Given the description of an element on the screen output the (x, y) to click on. 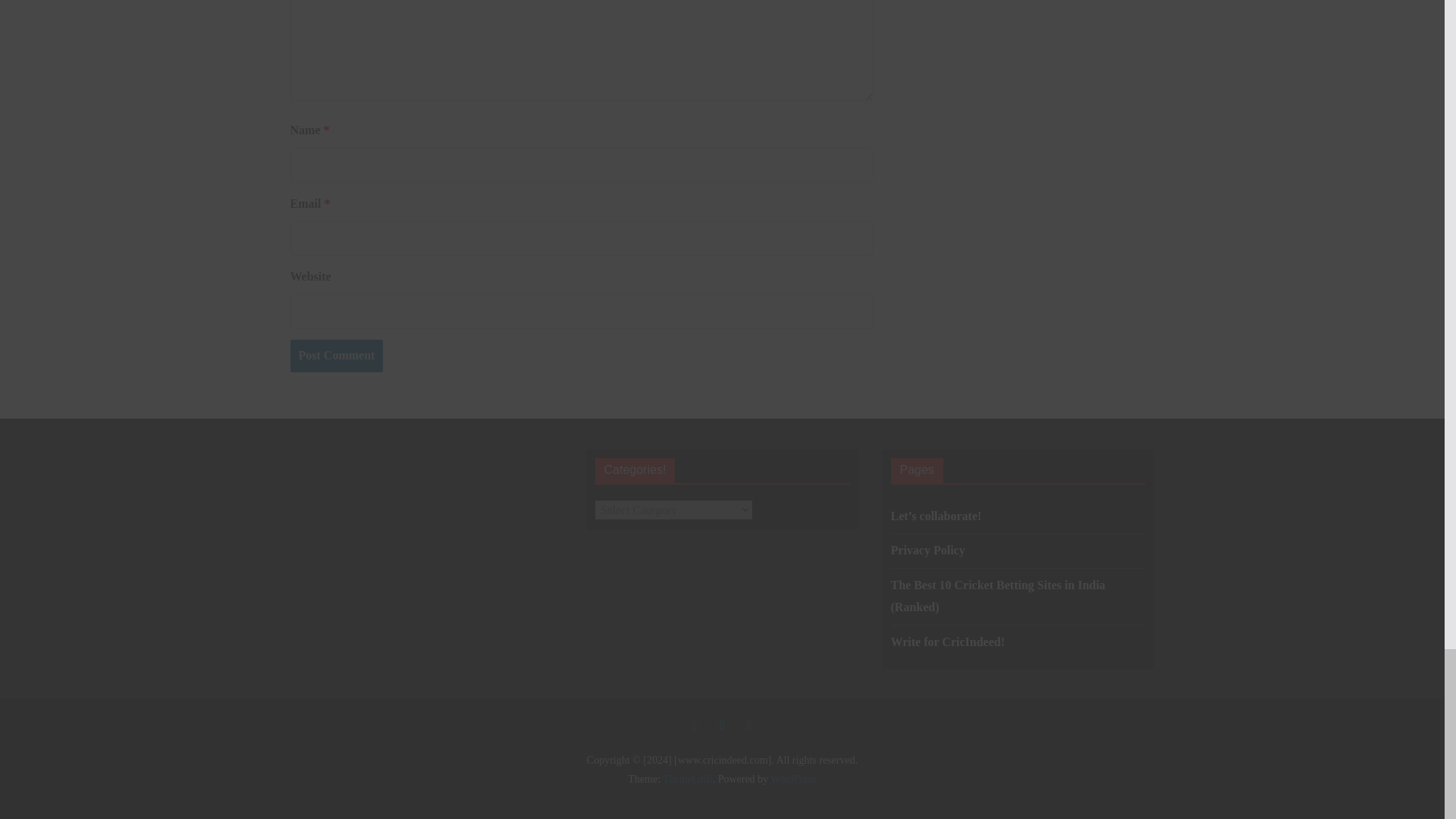
Post Comment (335, 355)
ThemeGrill (686, 778)
WordPress (792, 778)
Post Comment (335, 355)
Write for CricIndeed! (946, 641)
Privacy Policy (926, 549)
